Given the description of an element on the screen output the (x, y) to click on. 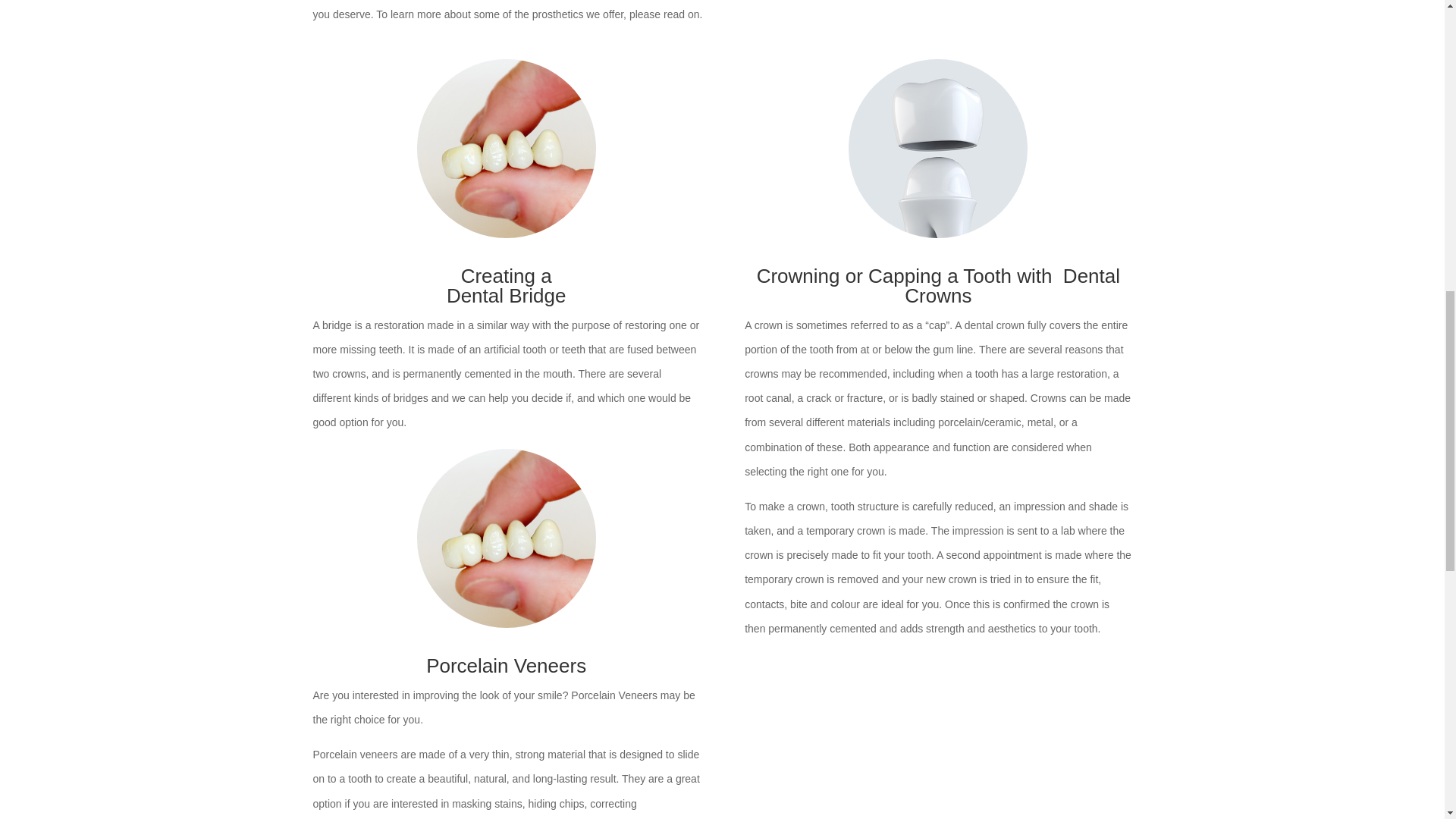
dental-bridge (505, 148)
dental-crown (937, 148)
dental-bridge (505, 538)
